Given the description of an element on the screen output the (x, y) to click on. 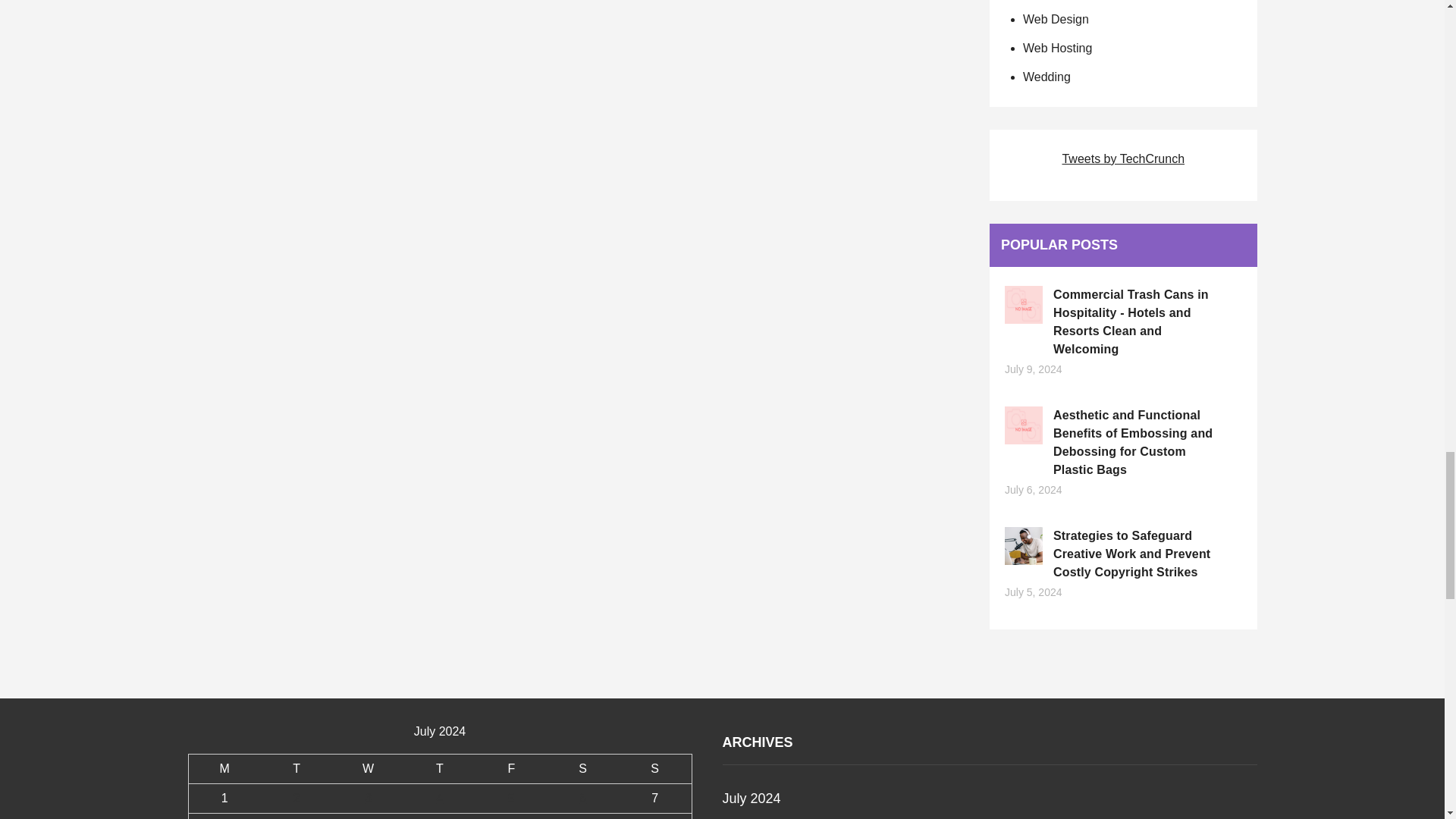
Tuesday (295, 767)
Saturday (582, 767)
Sunday (654, 767)
Friday (511, 767)
Thursday (440, 767)
Monday (223, 767)
Wednesday (367, 767)
